Given the description of an element on the screen output the (x, y) to click on. 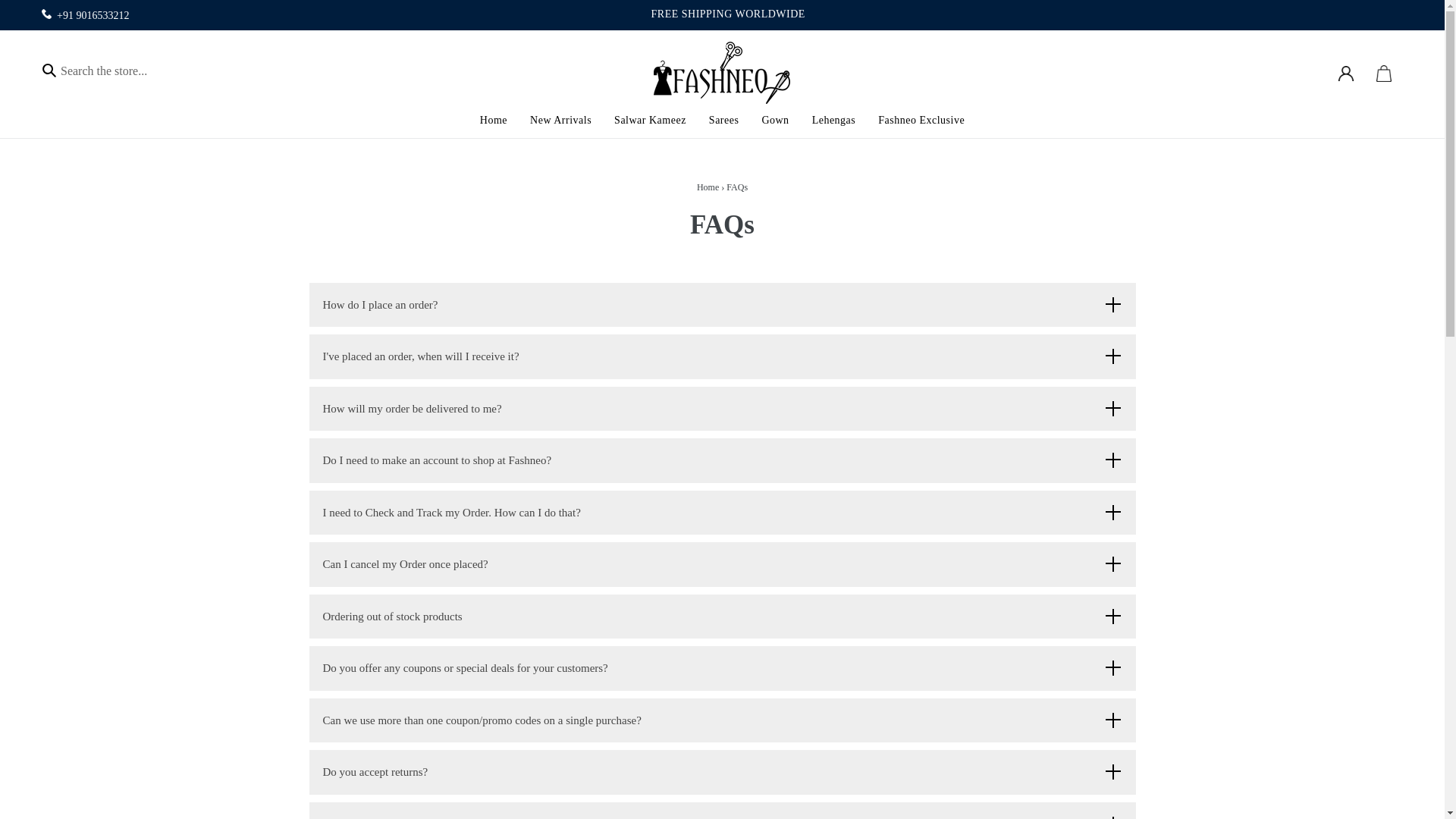
Do I need to make an account to shop at Fashneo? (721, 460)
Gown (774, 121)
How do I place an order? (721, 304)
How will my order be delivered to me? (721, 408)
Home (493, 121)
Can I cancel my Order once placed? (721, 564)
Home (708, 186)
Log in (1345, 72)
Home (493, 121)
Fashneo Exclusive (920, 121)
Sarees (724, 121)
I need to Check and Track my Order. How can I do that? (721, 512)
Sarees (724, 121)
I've placed an order, when will I receive it? (721, 356)
Fashneo Exclusive (920, 121)
